Given the description of an element on the screen output the (x, y) to click on. 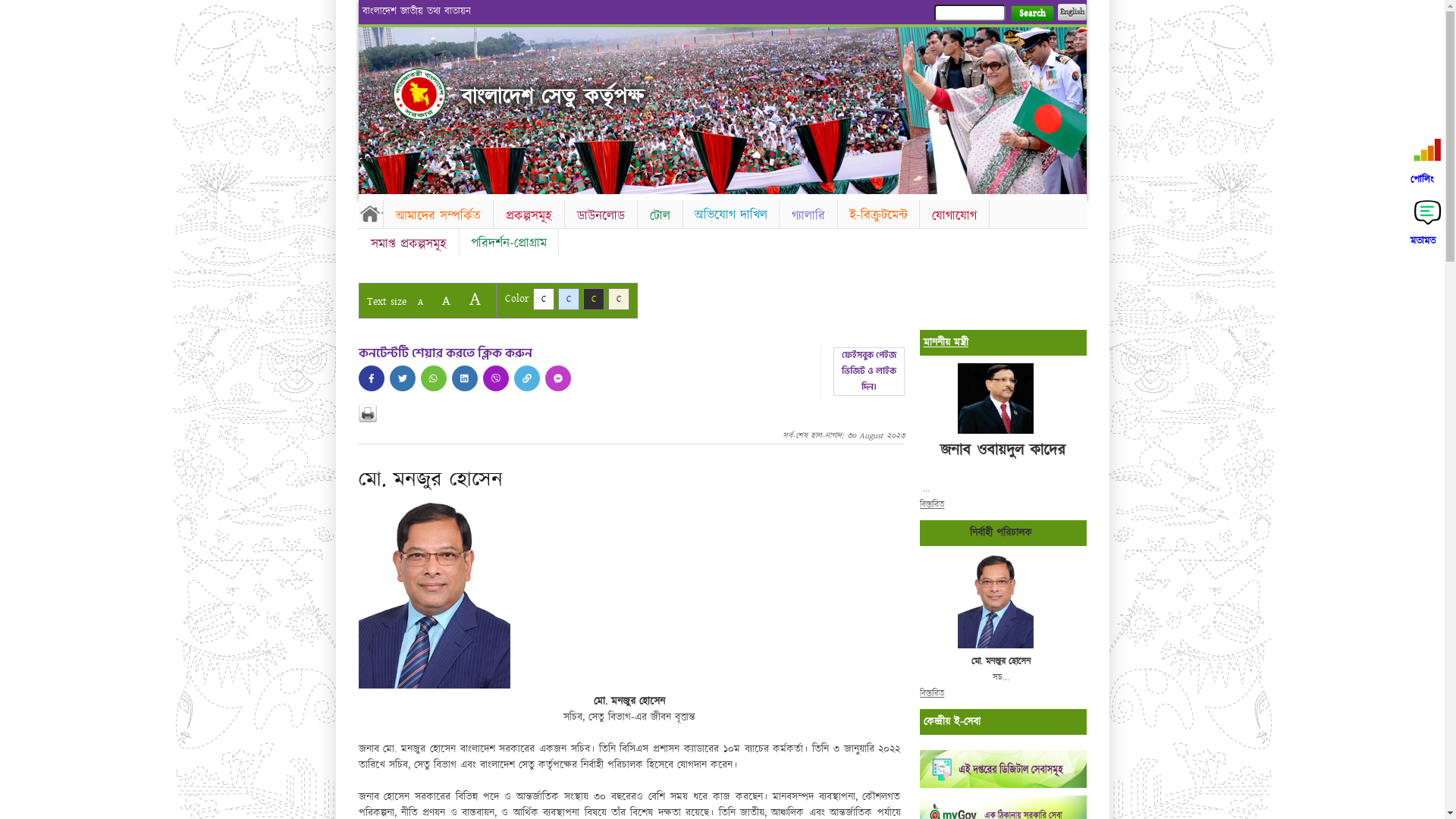
Home Element type: hover (418, 93)
A Element type: text (474, 298)
English Element type: text (1071, 11)
C Element type: text (542, 299)
A Element type: text (445, 300)
Search Element type: text (1031, 13)
A Element type: text (419, 301)
C Element type: text (618, 299)
C Element type: text (592, 299)
C Element type: text (568, 299)
Home Element type: hover (369, 212)
